Given the description of an element on the screen output the (x, y) to click on. 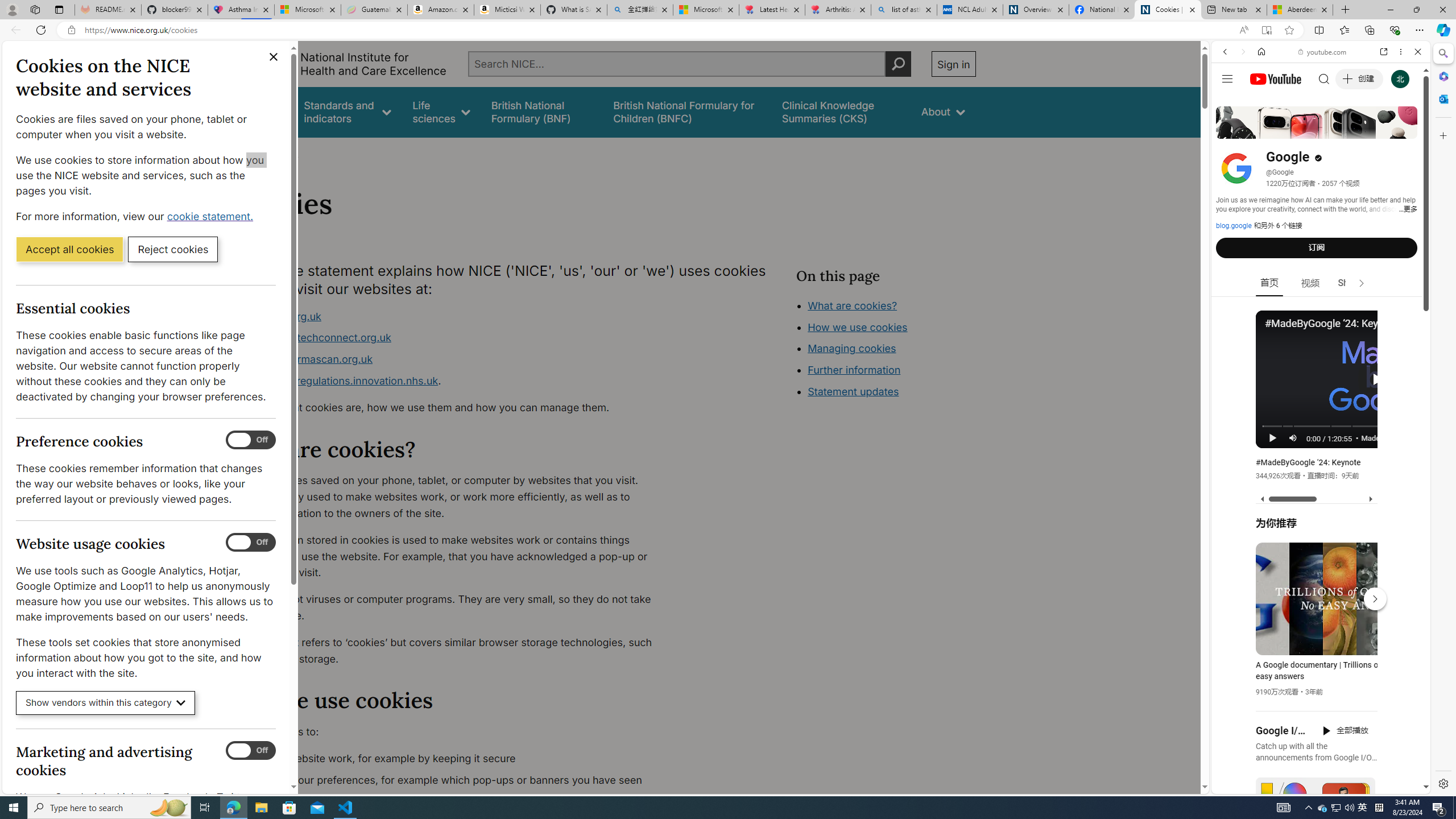
About (283, 152)
Cookies | About | NICE (1167, 9)
#you (1315, 659)
British National Formulary for Children (BNFC) (686, 111)
www.nice.org.uk (452, 316)
Preferences (1403, 129)
Enter Immersive Reader (F9) (1266, 29)
